Given the description of an element on the screen output the (x, y) to click on. 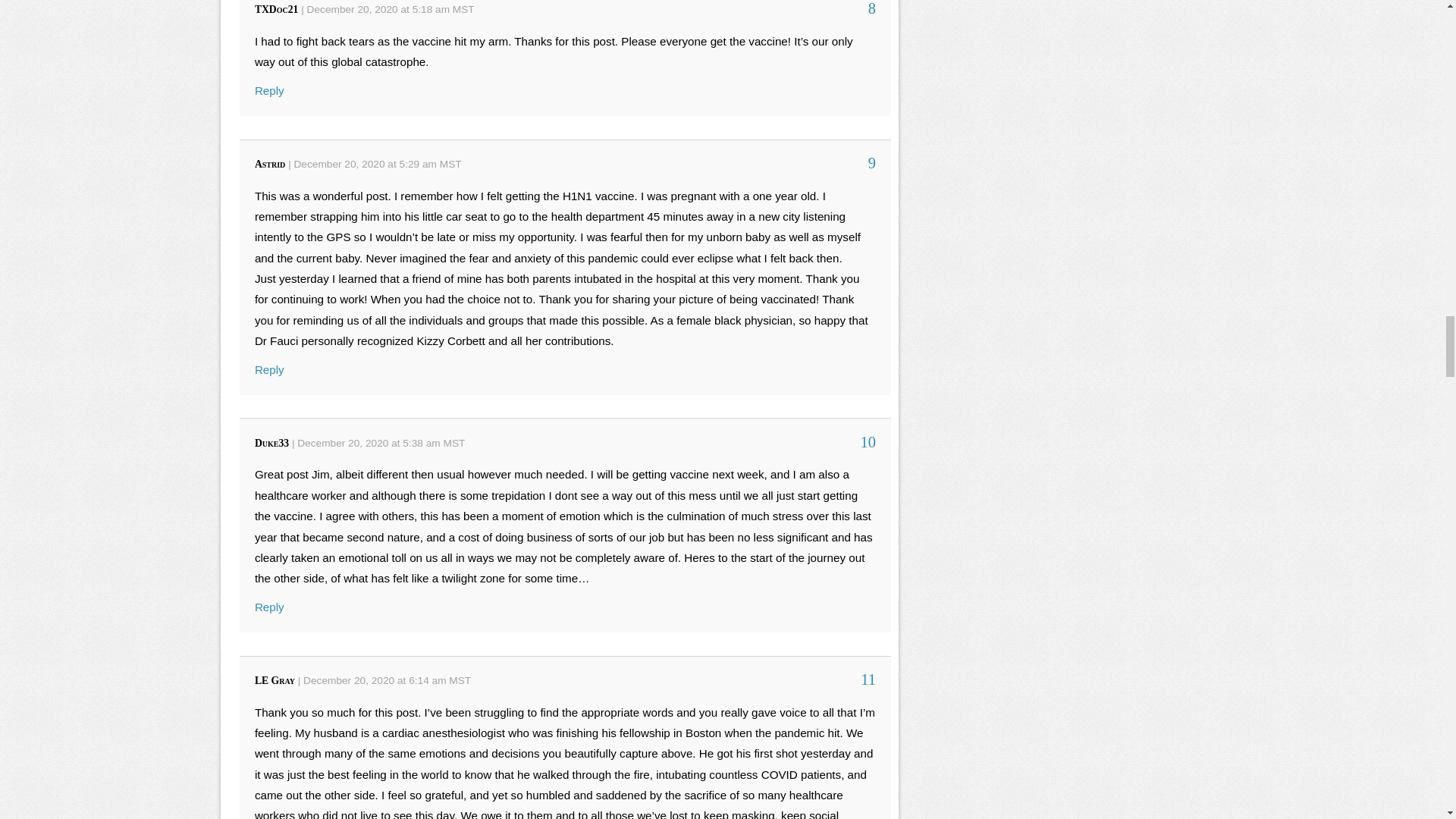
Mountain Standard Time (463, 9)
Mountain Standard Time (450, 163)
Mountain Standard Time (454, 442)
